Given the description of an element on the screen output the (x, y) to click on. 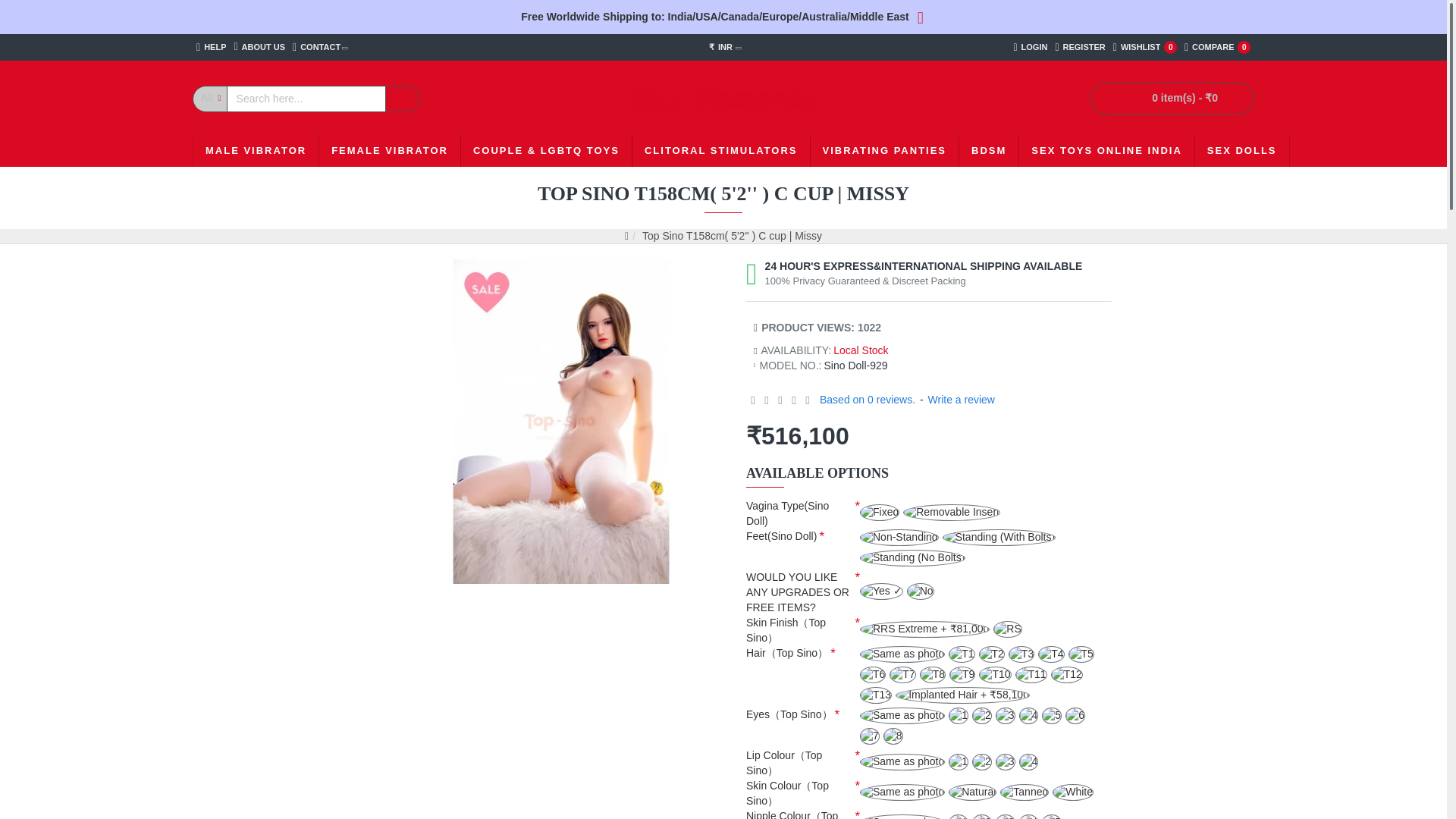
HELP (211, 47)
Sexvibrators (723, 98)
REGISTER (1144, 47)
MALE VIBRATOR (1079, 47)
ABOUT US (1216, 47)
LOGIN (255, 151)
CONTACT (259, 47)
